Given the description of an element on the screen output the (x, y) to click on. 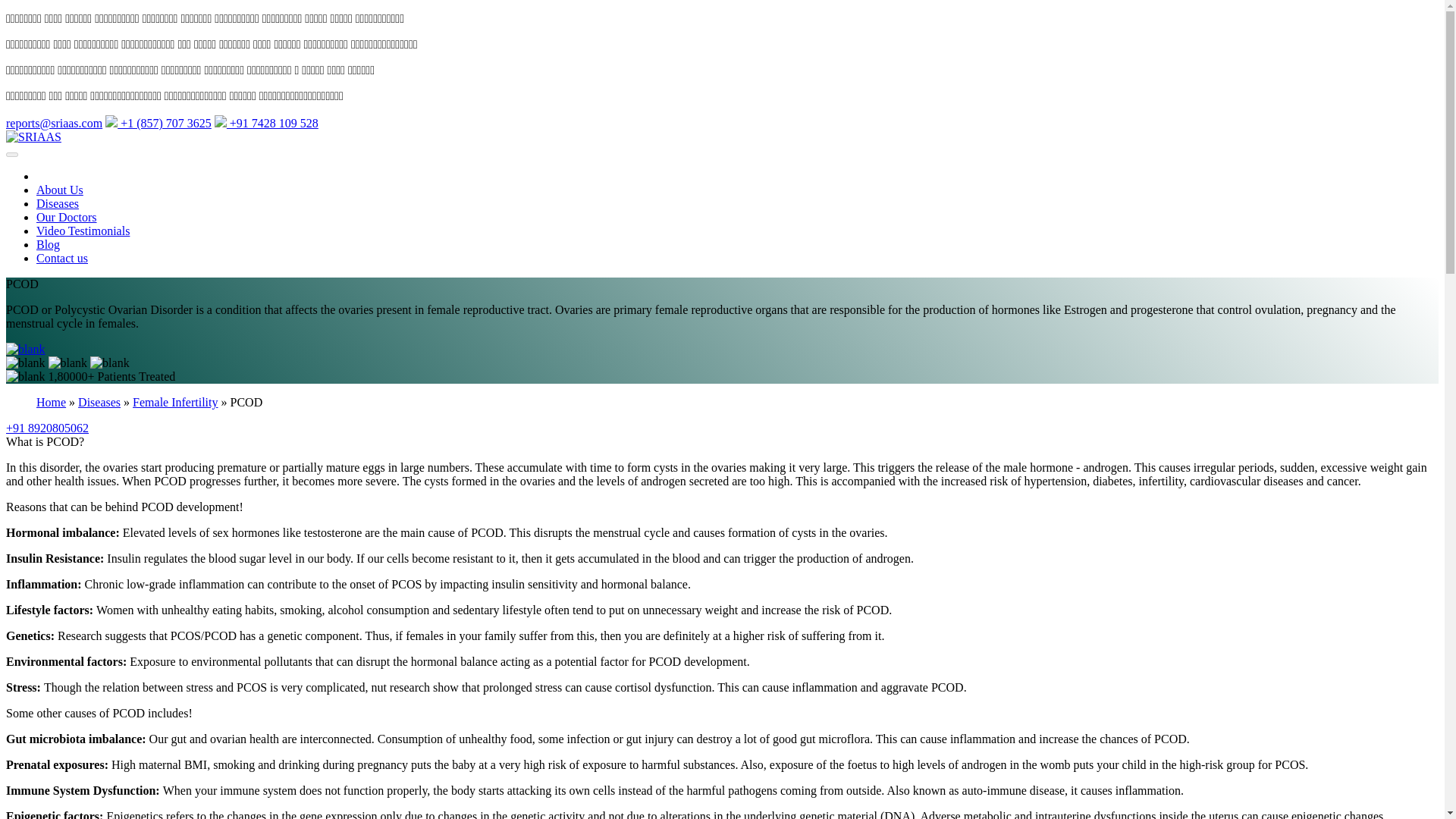
Home (50, 401)
Diseases (99, 401)
Female Infertility (174, 401)
Diseases (99, 401)
Diseases (57, 203)
About Us (59, 189)
Video Testimonials (82, 230)
Blog (47, 244)
Contact us (61, 257)
Home (50, 401)
Our Doctors (66, 216)
Female Infertility (174, 401)
